Given the description of an element on the screen output the (x, y) to click on. 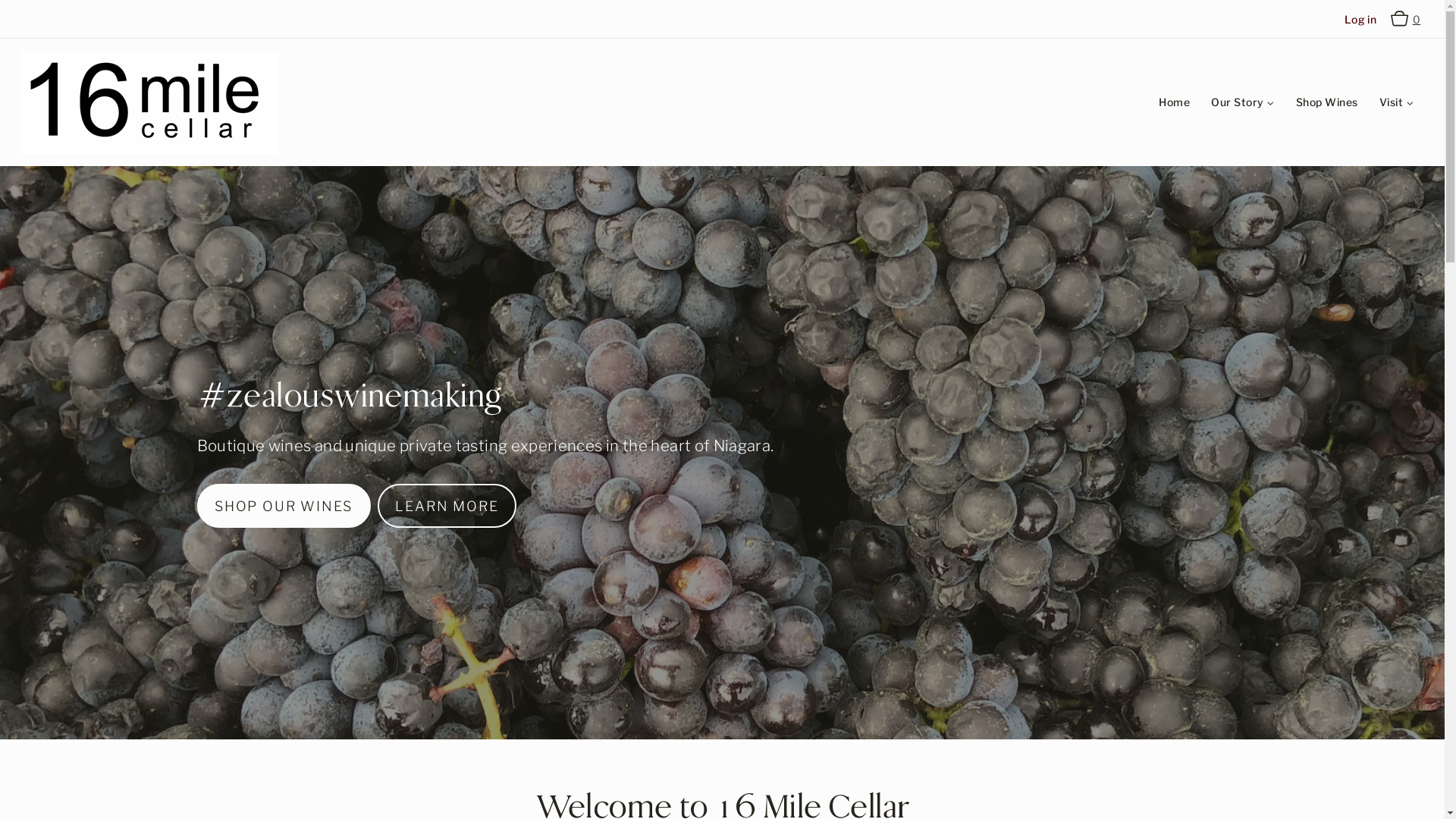
Cart
0 Element type: text (1407, 18)
Log in Element type: text (1360, 19)
Our Story Element type: text (1242, 102)
Shop Wines Element type: text (1326, 102)
Visit Element type: text (1396, 102)
SHOP OUR WINES Element type: text (283, 505)
LEARN MORE Element type: text (446, 505)
Home Element type: text (1174, 102)
